Given the description of an element on the screen output the (x, y) to click on. 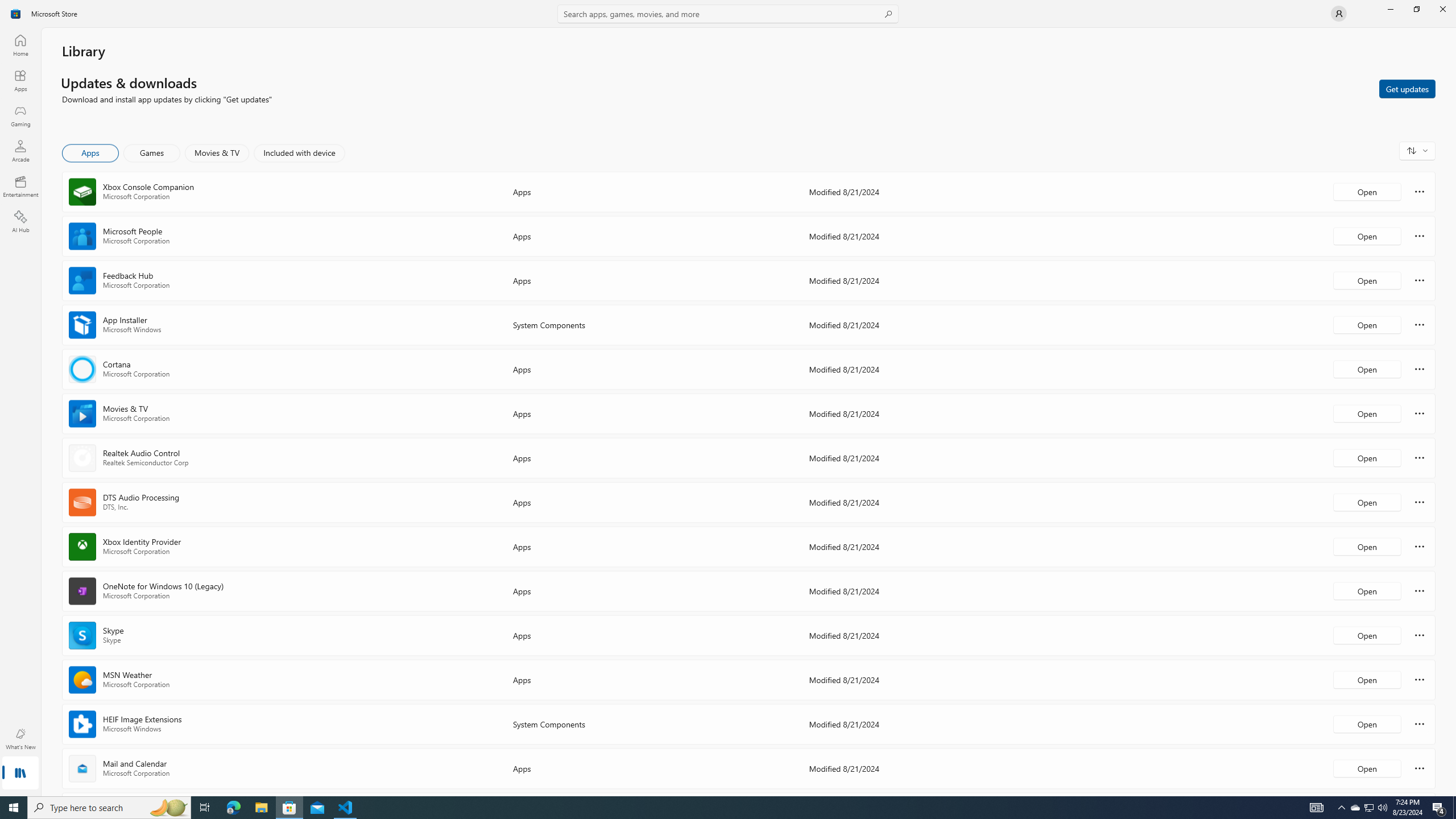
Open (1366, 768)
Search (727, 13)
Movies & TV (216, 153)
